Given the description of an element on the screen output the (x, y) to click on. 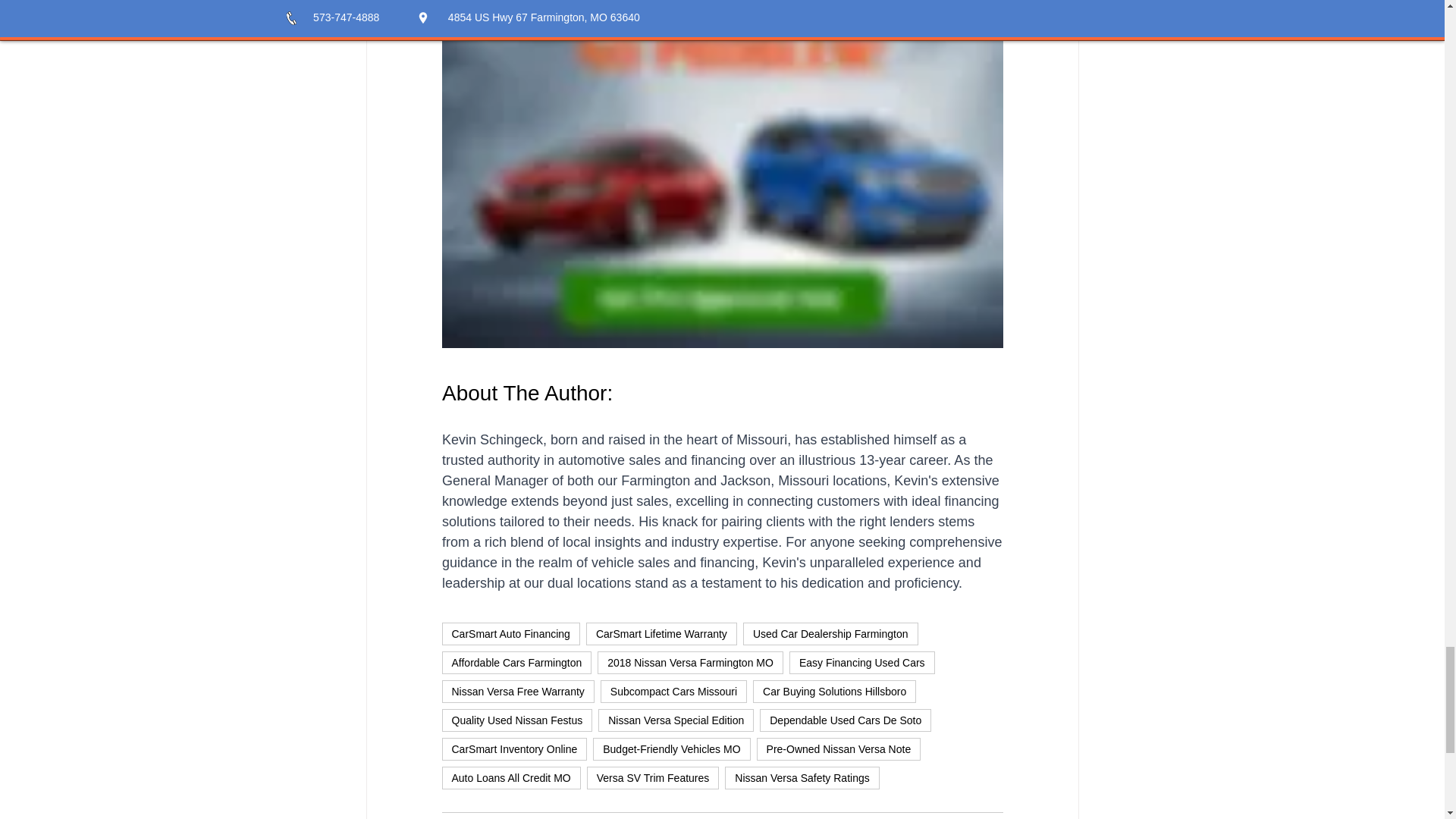
Dependable Used Cars De Soto (845, 720)
CarSmart Auto Financing (510, 633)
Auto Loans All Credit MO (510, 777)
Used Car Dealership Farmington (830, 633)
Car Buying Solutions Hillsboro (833, 691)
Nissan Versa Special Edition (676, 720)
Versa SV Trim Features (652, 777)
Budget-Friendly Vehicles MO (670, 748)
Nissan Versa Safety Ratings (802, 777)
Nissan Versa Free Warranty (517, 691)
CarSmart Lifetime Warranty (661, 633)
Pre-Owned Nissan Versa Note (839, 748)
Easy Financing Used Cars (861, 662)
CarSmart Inventory Online (513, 748)
2018 Nissan Versa Farmington MO (689, 662)
